Given the description of an element on the screen output the (x, y) to click on. 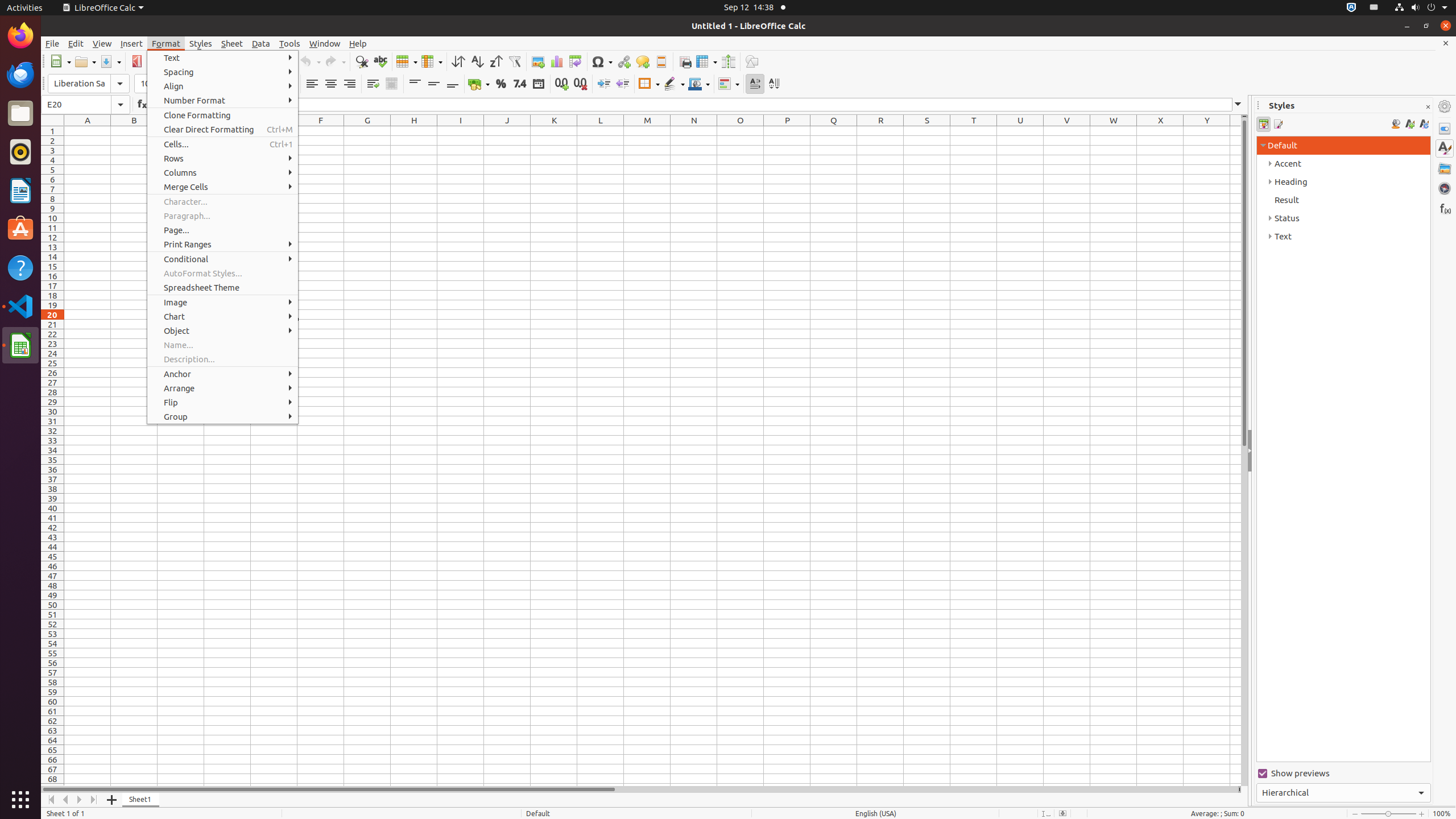
Symbol Element type: push-button (601, 61)
Y1 Element type: table-cell (1206, 130)
Name Box Element type: combo-box (85, 104)
View Element type: menu (102, 43)
Number Element type: push-button (519, 83)
